Given the description of an element on the screen output the (x, y) to click on. 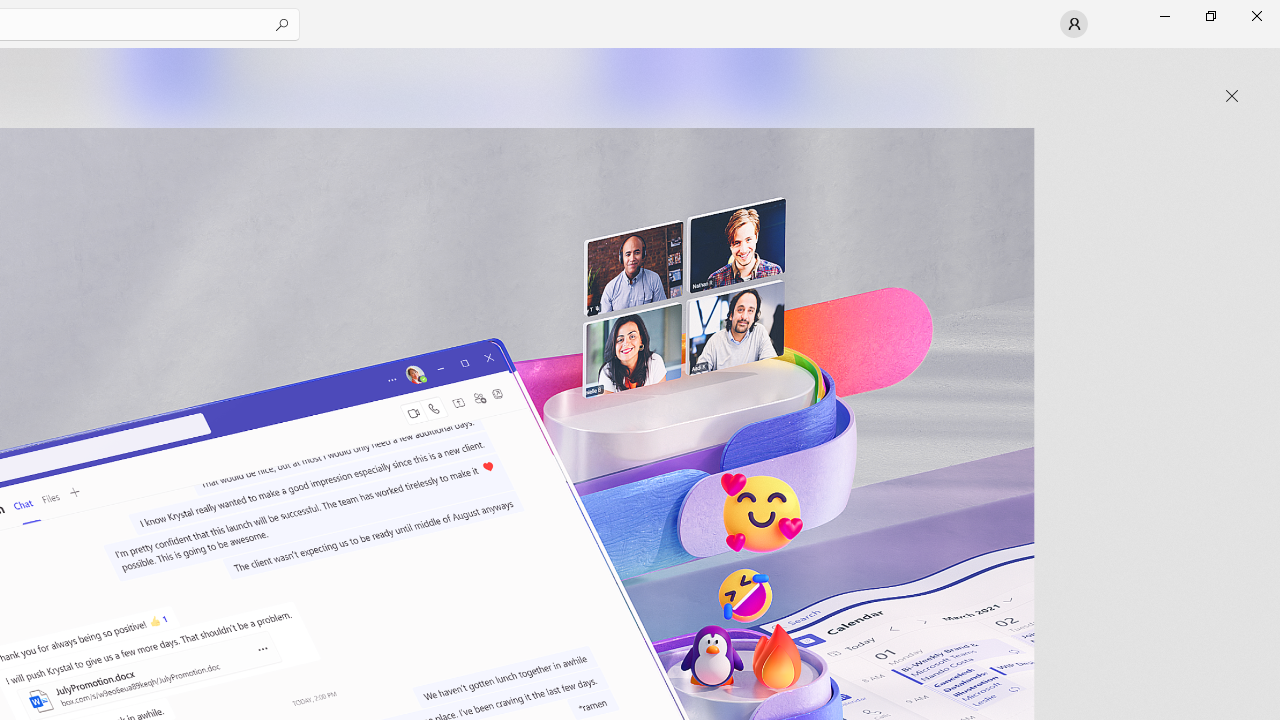
Screenshot 2 (406, 81)
Screenshot 3 (833, 81)
close popup window (1232, 95)
Minimize Microsoft Store (1164, 15)
User profile (1073, 24)
Show all ratings and reviews (924, 495)
Restore Microsoft Store (1210, 15)
Close Microsoft Store (1256, 15)
